Given the description of an element on the screen output the (x, y) to click on. 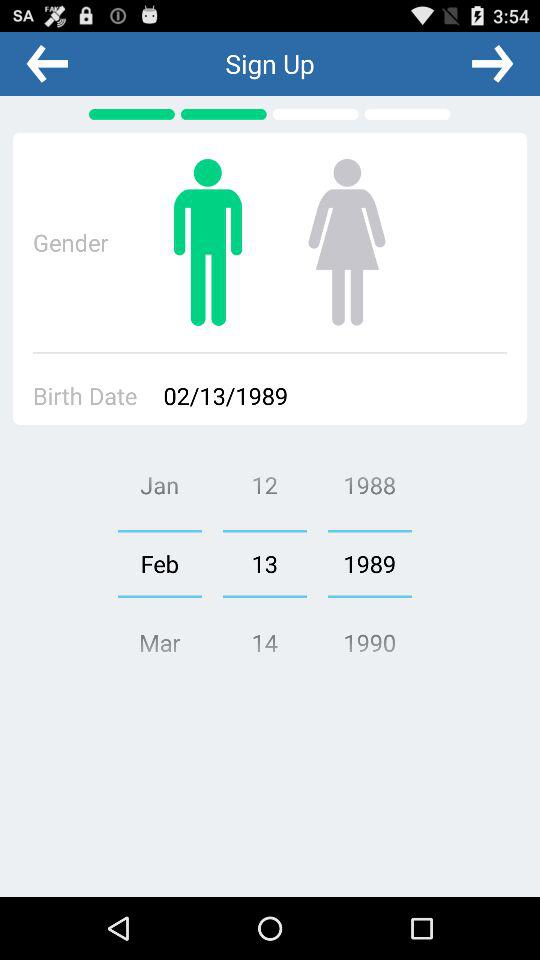
select female gender (346, 242)
